Given the description of an element on the screen output the (x, y) to click on. 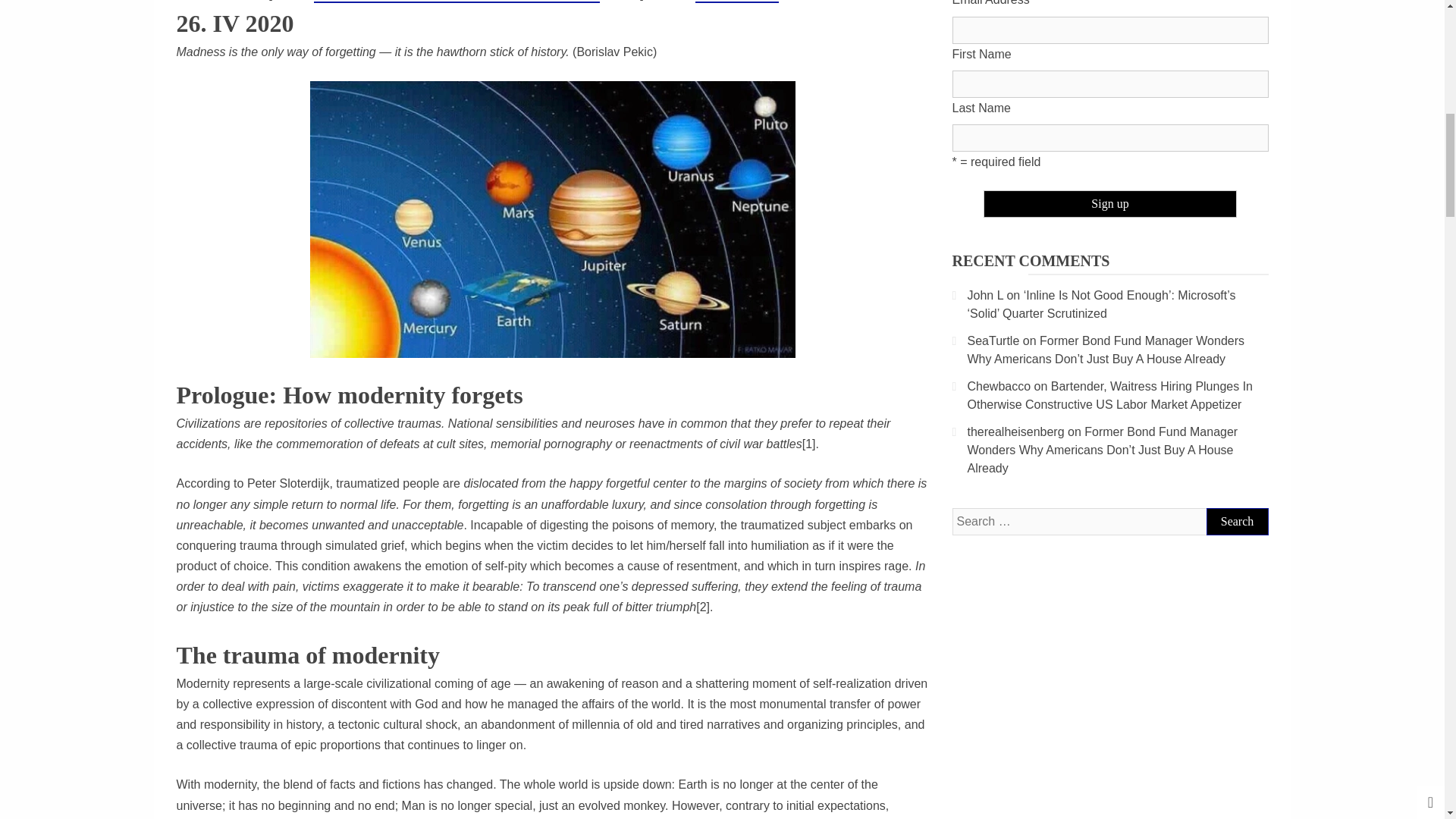
Search (1236, 521)
Sign up (1110, 203)
NOTES FROM DISGRACELAND (456, 1)
Search (1236, 521)
on Twitter (736, 1)
